Given the description of an element on the screen output the (x, y) to click on. 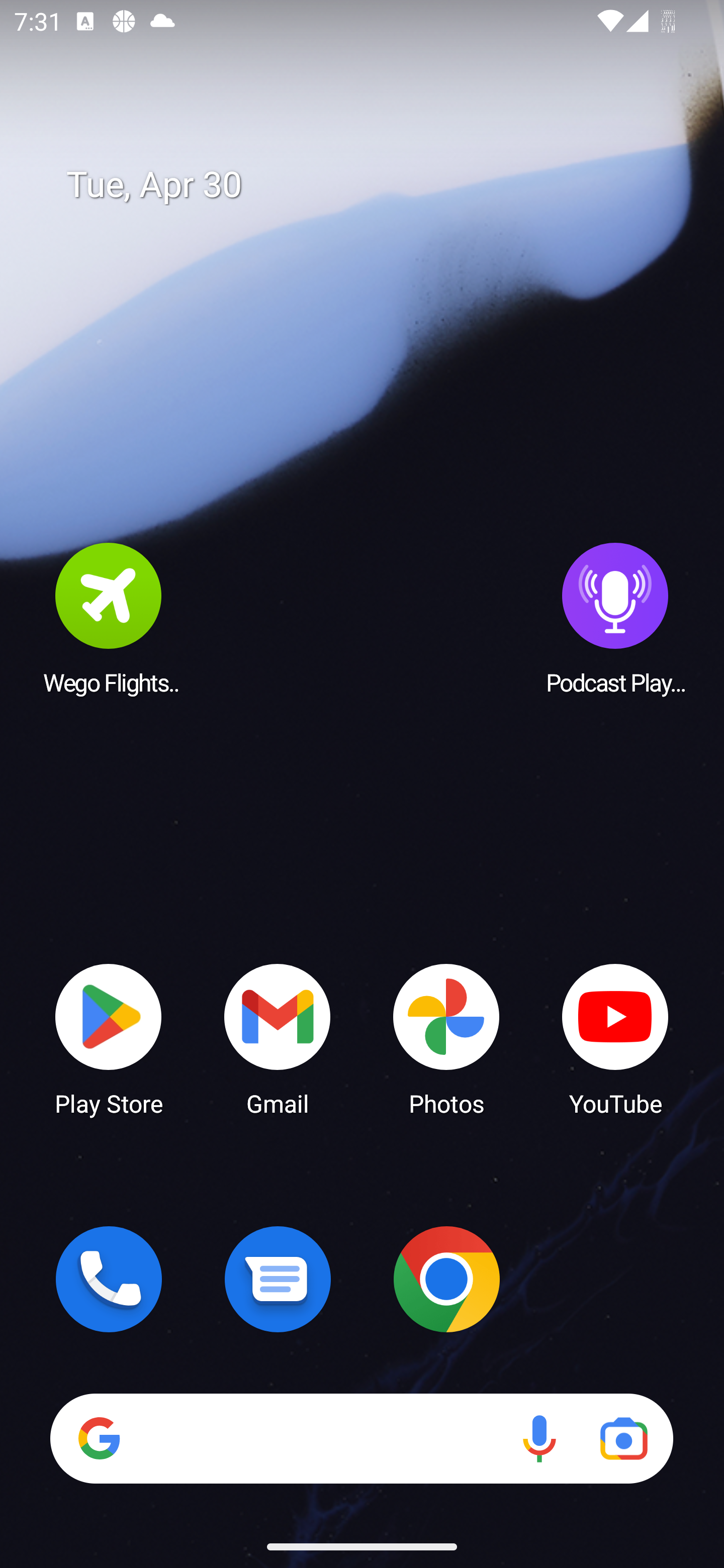
Tue, Apr 30 (375, 184)
Wego Flights & Hotels (108, 617)
Podcast Player (615, 617)
Play Store (108, 1038)
Gmail (277, 1038)
Photos (445, 1038)
YouTube (615, 1038)
Phone (108, 1279)
Messages (277, 1279)
Chrome (446, 1279)
Voice search (539, 1438)
Google Lens (623, 1438)
